Given the description of an element on the screen output the (x, y) to click on. 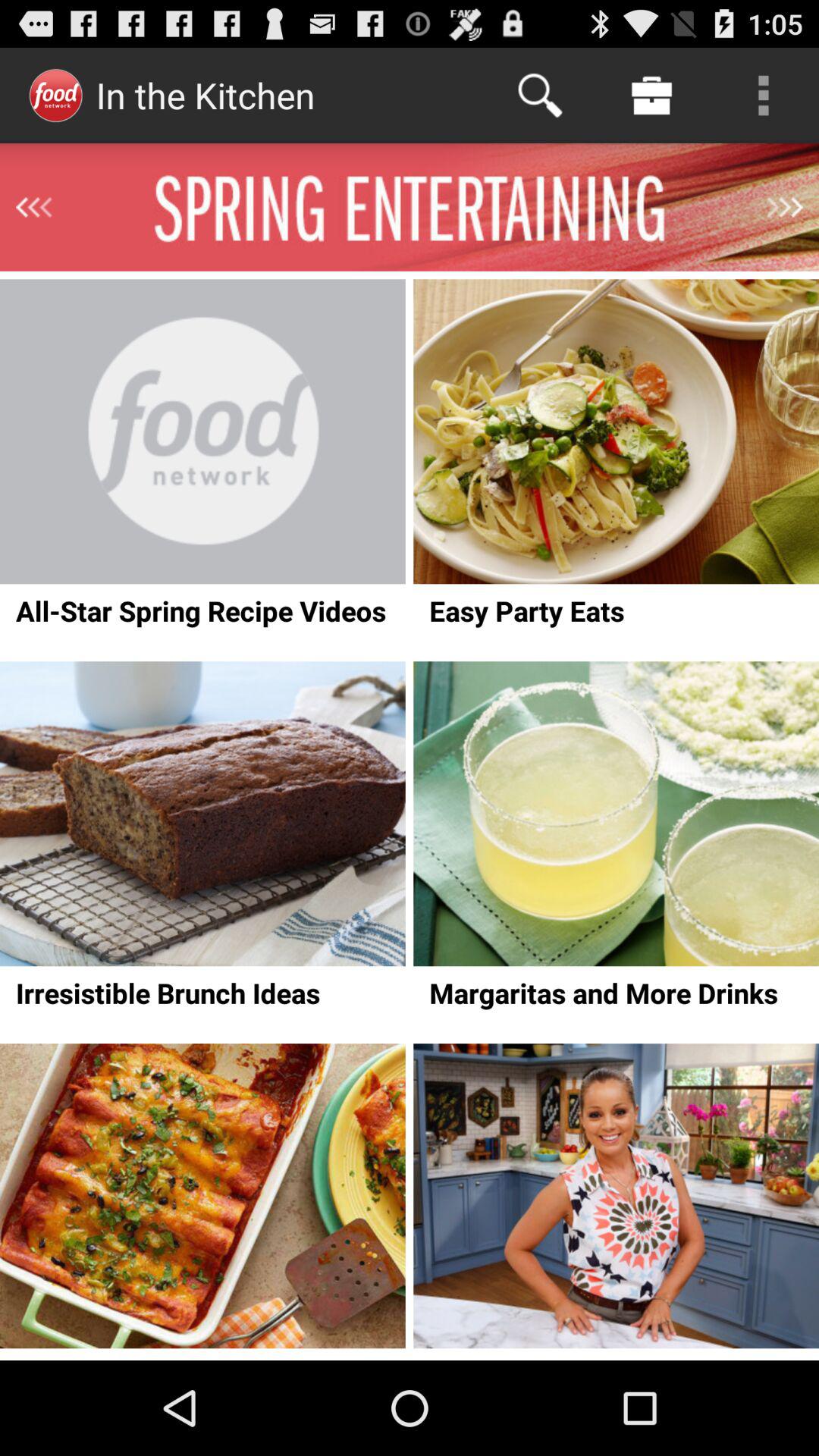
tap the icon next to in the kitchen item (540, 95)
